Given the description of an element on the screen output the (x, y) to click on. 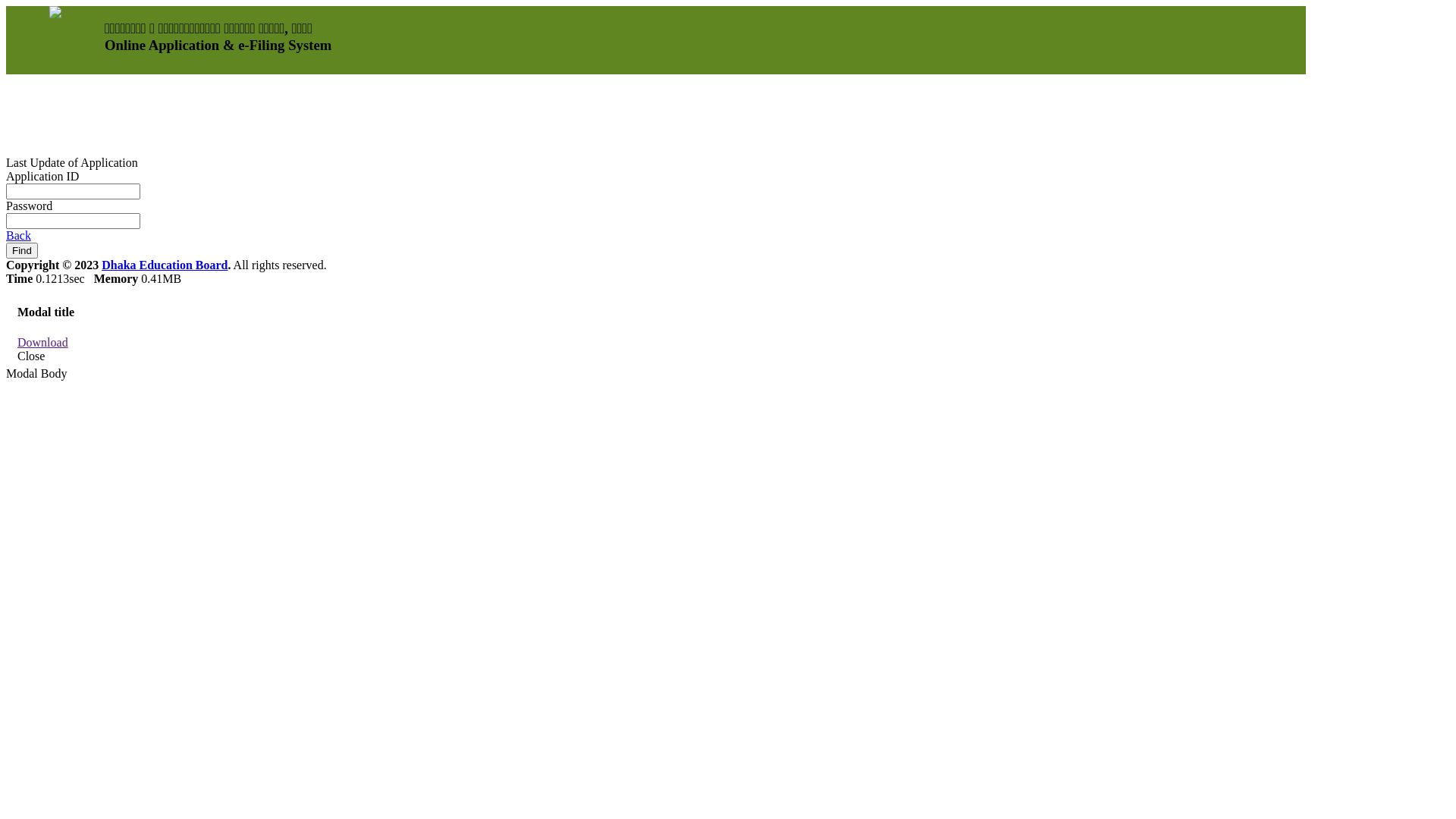
Back Element type: text (18, 235)
Find Element type: text (21, 250)
Download Element type: text (42, 341)
Dhaka Education Board Element type: text (164, 264)
